Given the description of an element on the screen output the (x, y) to click on. 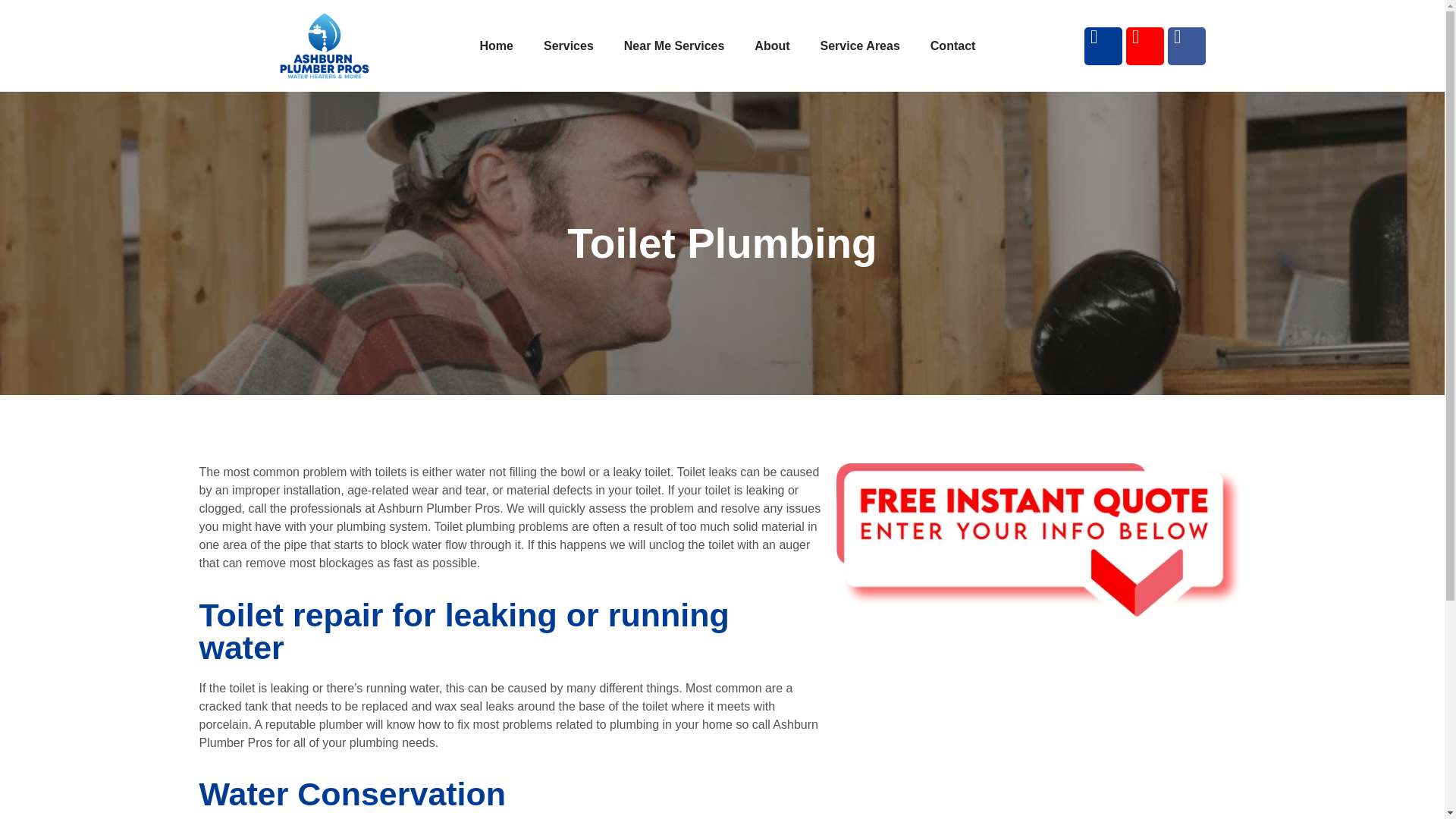
Services (568, 45)
Home (495, 45)
Near Me Services (673, 45)
